Given the description of an element on the screen output the (x, y) to click on. 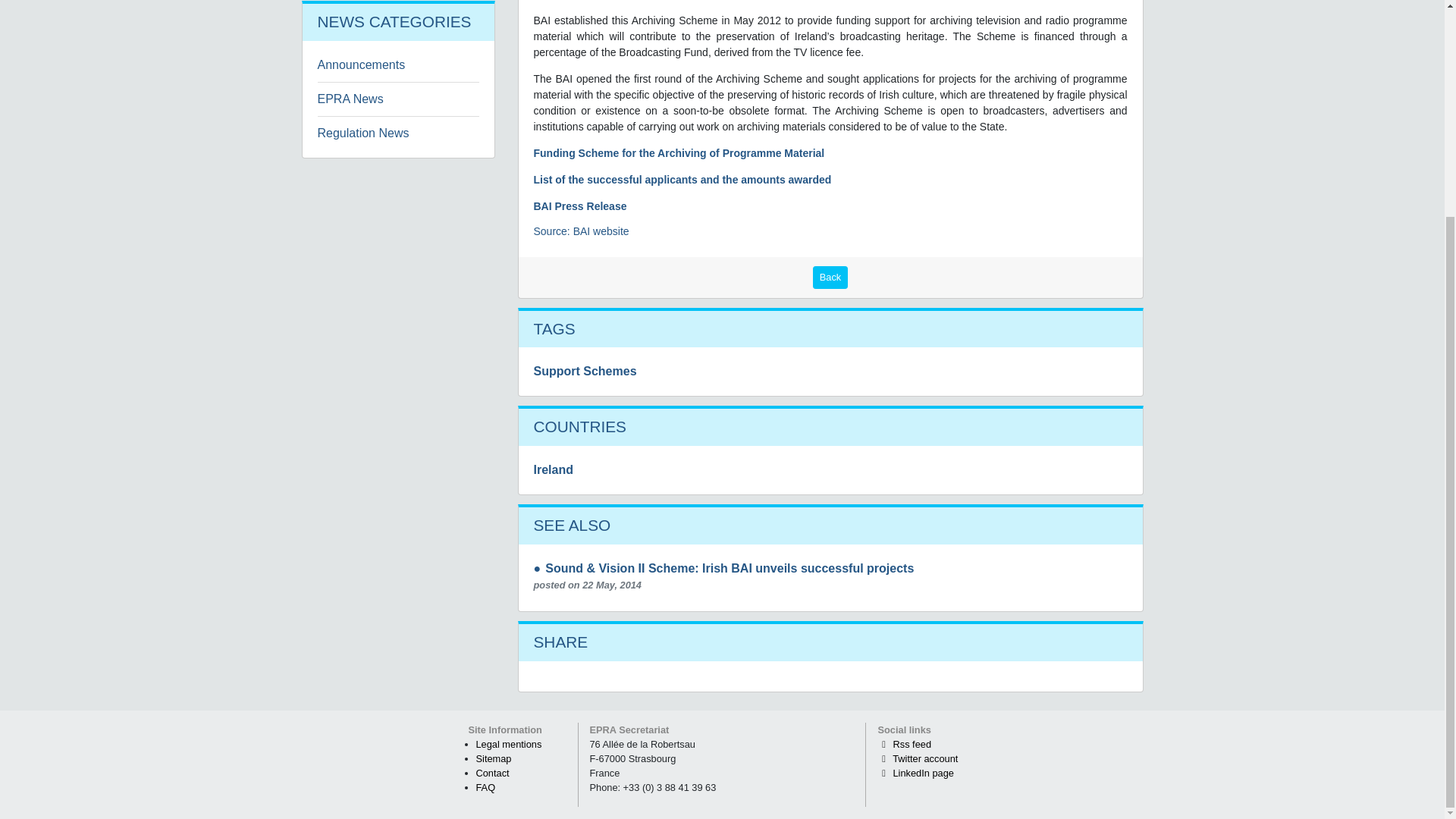
Back (829, 277)
BAI Press Release (580, 205)
List of the successful applicants and the amounts awarded (682, 179)
EPRA News (349, 98)
Regulation News (363, 132)
Announcements (360, 64)
Funding Scheme for the Archiving of Programme Material (679, 152)
